Given the description of an element on the screen output the (x, y) to click on. 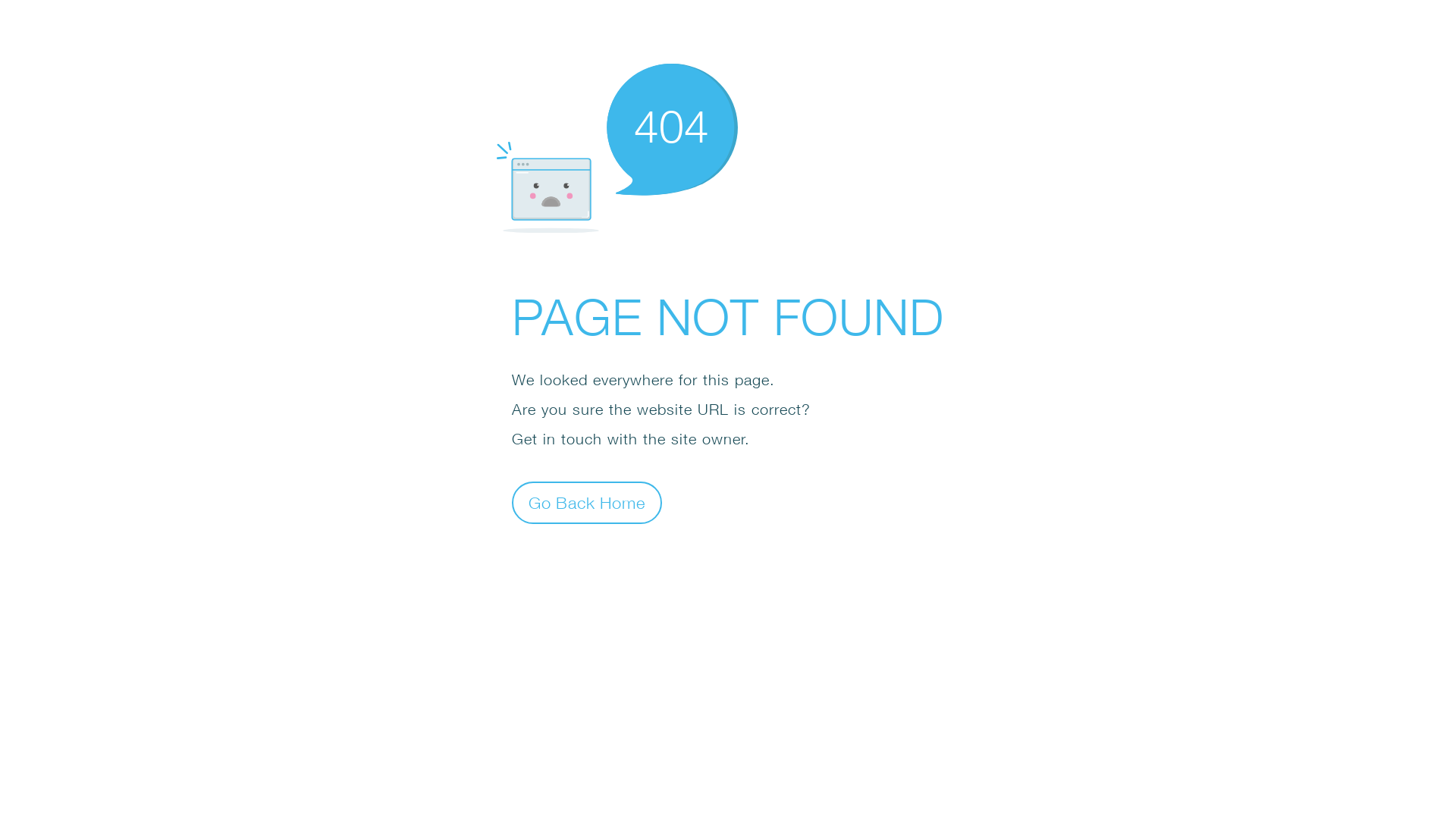
Go Back Home Element type: text (586, 502)
